Given the description of an element on the screen output the (x, y) to click on. 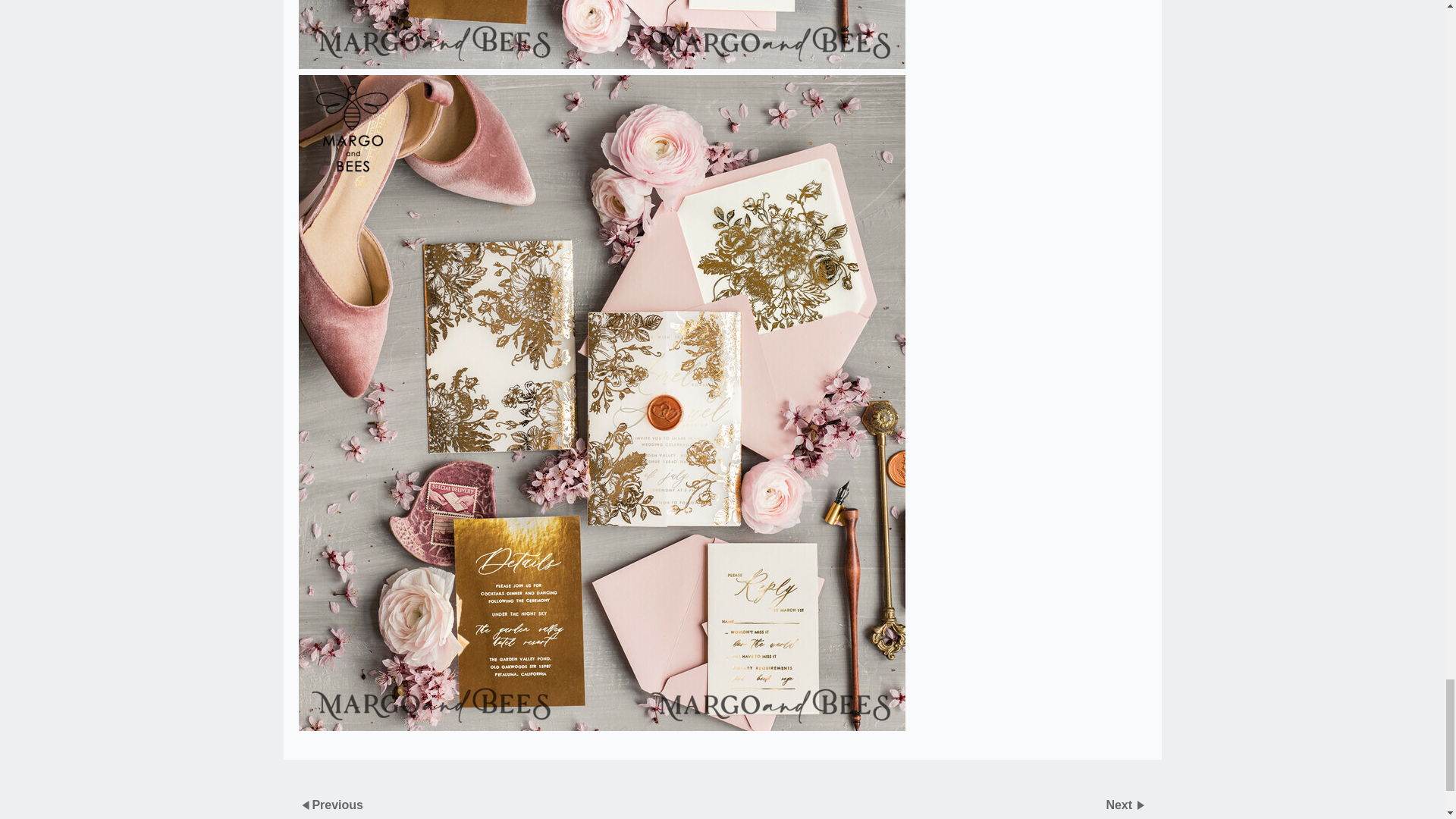
Next (1120, 803)
Previous (336, 803)
